Given the description of an element on the screen output the (x, y) to click on. 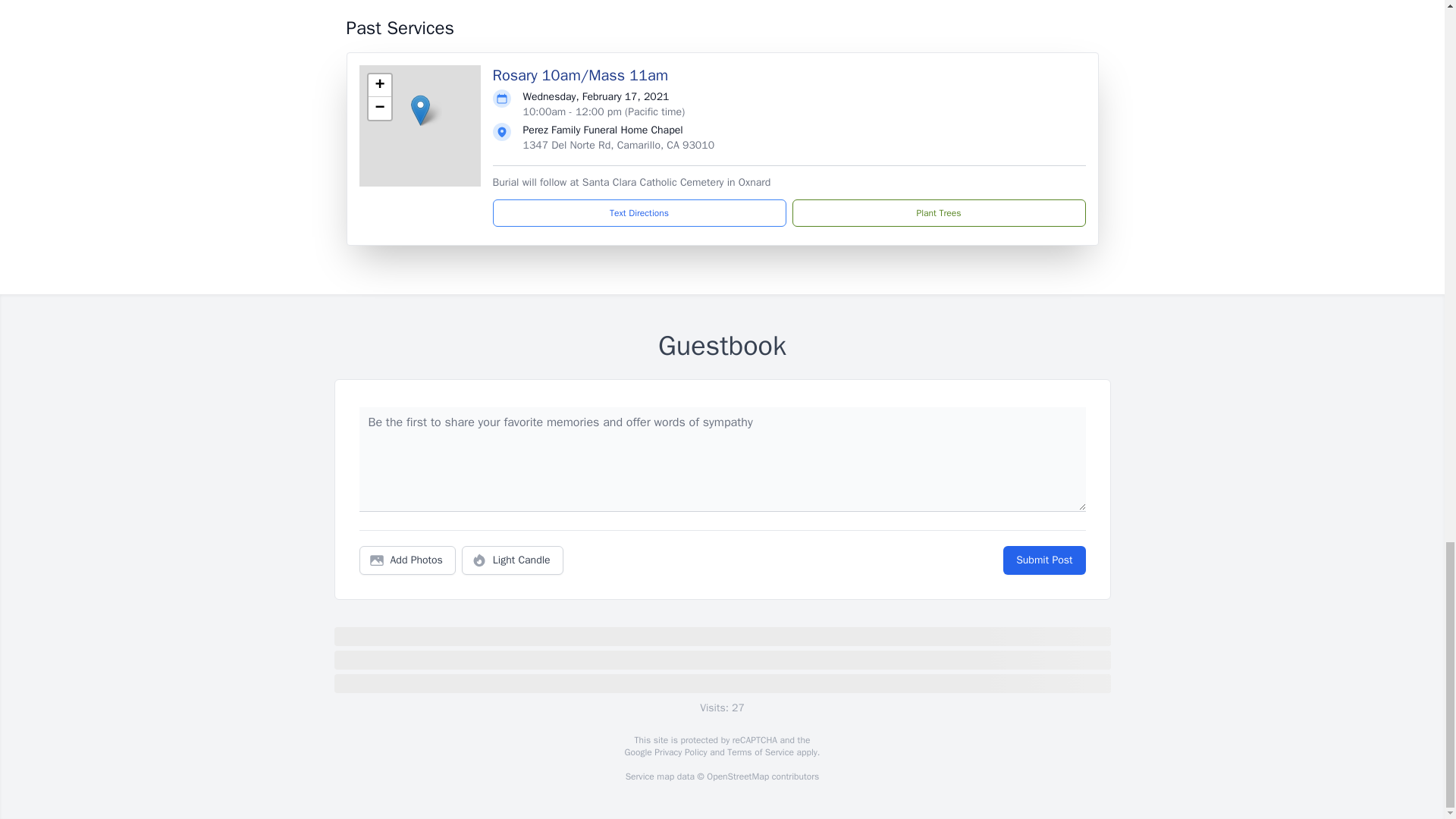
Terms of Service (759, 752)
OpenStreetMap (737, 776)
Zoom in (379, 85)
Zoom out (379, 108)
Add Photos (407, 560)
Privacy Policy (679, 752)
Plant Trees (938, 212)
1347 Del Norte Rd, Camarillo, CA 93010 (618, 144)
Submit Post (1043, 560)
Light Candle (512, 560)
Text Directions (639, 212)
